Given the description of an element on the screen output the (x, y) to click on. 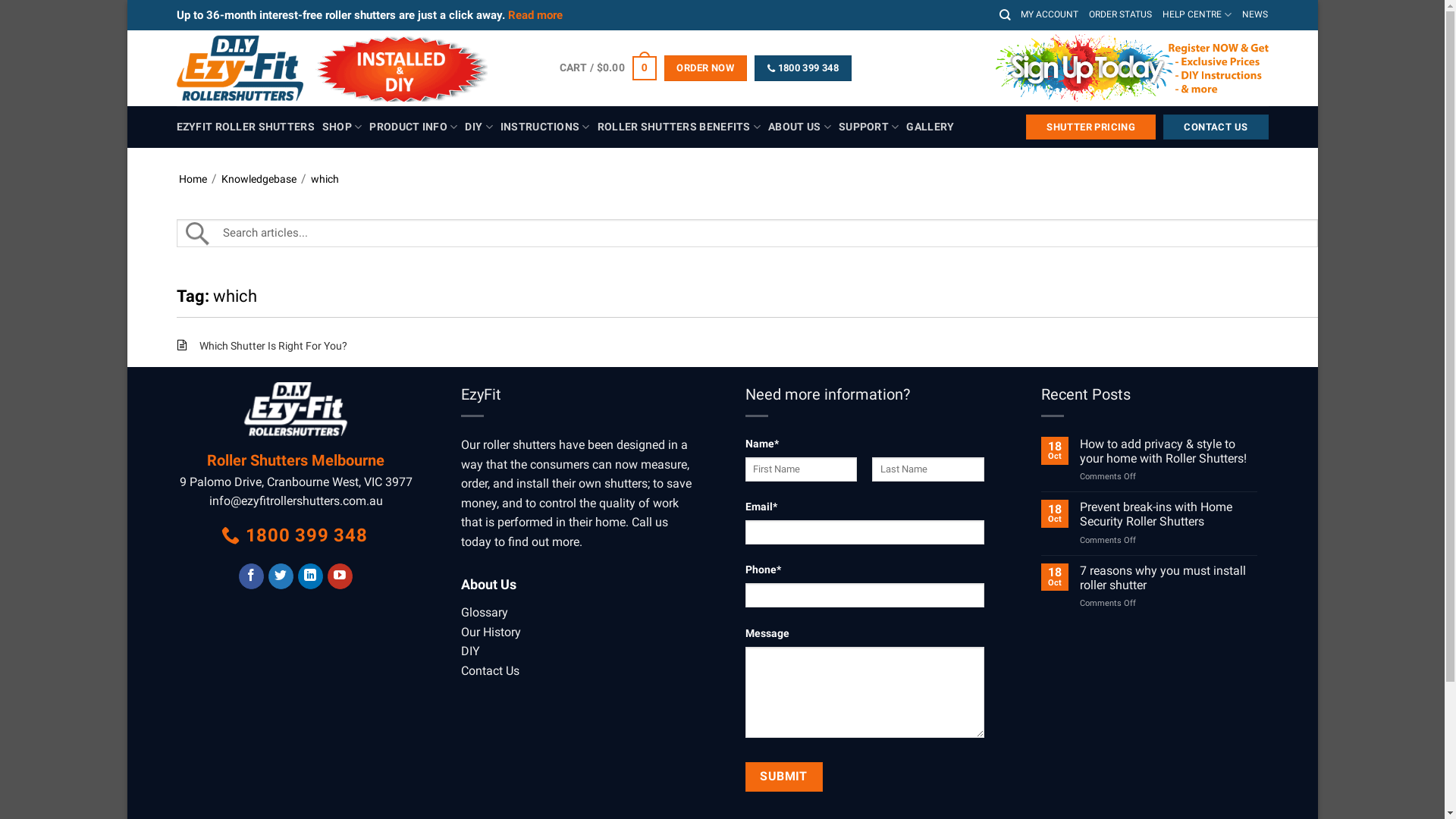
SUPPORT Element type: text (868, 126)
Read more Element type: text (535, 14)
Knowledgebase Element type: text (258, 178)
7 reasons why you must install roller shutter Element type: text (1167, 577)
DIY Element type: text (470, 650)
1800 399 348 Element type: text (295, 535)
Prevent break-ins with Home Security Roller Shutters Element type: text (1167, 513)
Home Element type: text (192, 178)
DIY Element type: text (478, 126)
Follow on LinkedIn Element type: hover (310, 576)
Submit Element type: text (783, 775)
Follow on Facebook Element type: hover (250, 576)
ABOUT US Element type: text (799, 126)
ORDER NOW Element type: text (705, 68)
CONTACT US Element type: text (1215, 127)
EzyFit Element type: hover (355, 68)
INSTRUCTIONS Element type: text (544, 126)
which Element type: text (324, 178)
ORDER STATUS Element type: text (1119, 14)
SHOP Element type: text (342, 126)
Glossary Element type: text (484, 612)
Roller Shutters Melbourne Element type: text (295, 460)
GALLERY Element type: text (929, 127)
Our History Element type: text (490, 631)
info@ezyfitrollershutters.com.au Element type: text (295, 500)
HELP CENTRE Element type: text (1196, 14)
Follow on YouTube Element type: hover (339, 576)
MY ACCOUNT Element type: text (1049, 14)
1800 399 348 Element type: text (802, 68)
Follow on Twitter Element type: hover (280, 576)
EZYFIT ROLLER SHUTTERS Element type: text (244, 127)
PRODUCT INFO Element type: text (413, 126)
Contact Us Element type: text (490, 670)
Which Shutter Is Right For You? Element type: text (272, 345)
ROLLER SHUTTERS BENEFITS Element type: text (678, 126)
NEWS Element type: text (1254, 14)
SHUTTER PRICING Element type: text (1090, 127)
CART / $0.00
0 Element type: text (607, 68)
